Given the description of an element on the screen output the (x, y) to click on. 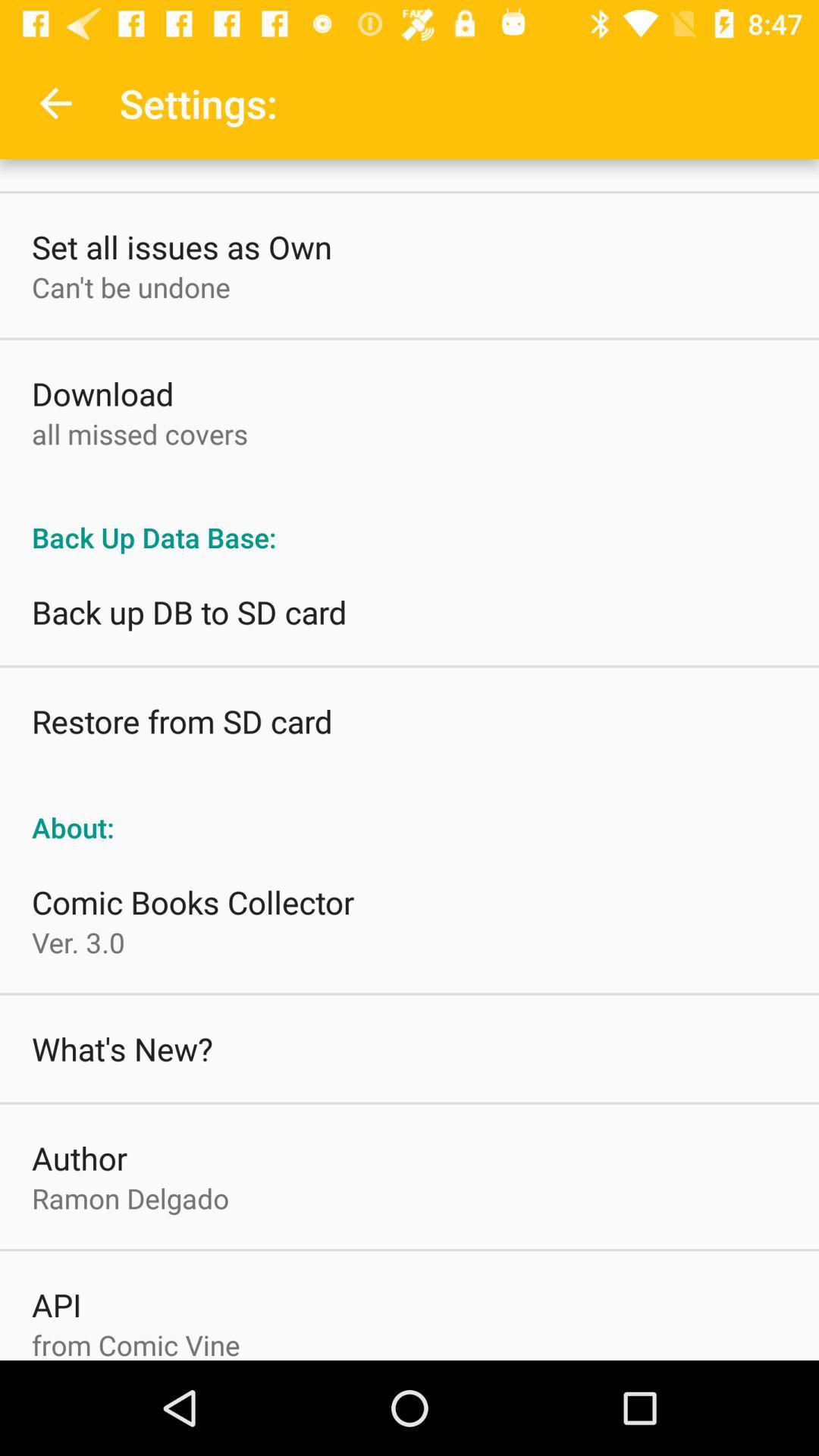
jump until comic books collector icon (192, 901)
